Given the description of an element on the screen output the (x, y) to click on. 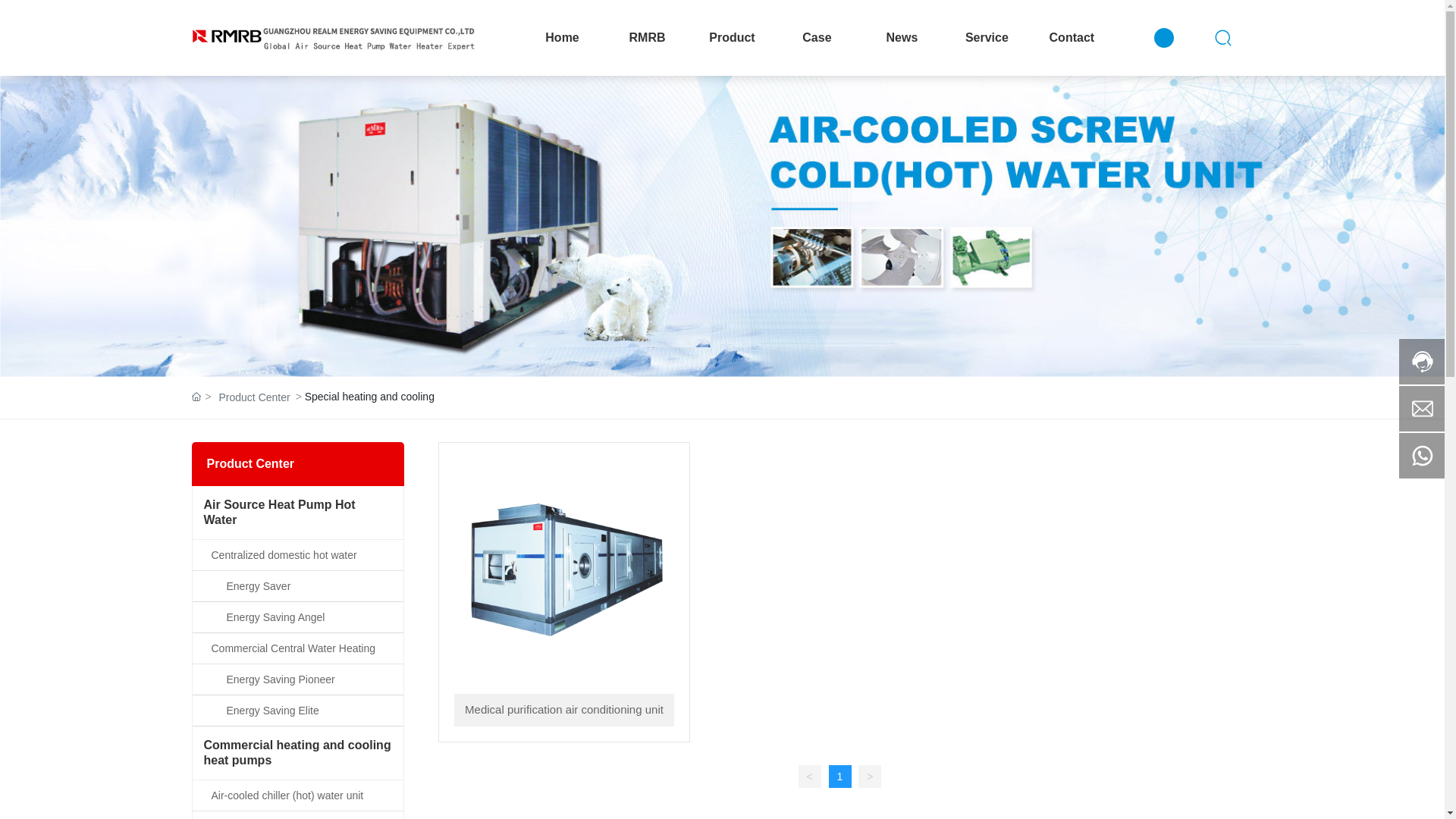
> Element type: text (869, 776)
Product Center Element type: text (253, 397)
Home Element type: text (562, 37)
Energy Saver Element type: text (297, 586)
Medical purification air conditioning unit Element type: hover (563, 567)
Centralized domestic hot water Element type: text (297, 554)
Contact Element type: text (1071, 37)
Product Center Element type: hover (722, 225)
Air-cooled chiller (hot) water unit Element type: text (297, 795)
News Element type: text (901, 37)
RMRB Element type: text (647, 37)
Energy Saving Elite Element type: text (297, 710)
1 Element type: text (839, 776)
Product Element type: text (731, 37)
Commercial heating and cooling heat pumps Element type: text (297, 752)
Service Element type: text (986, 37)
Case Element type: text (816, 37)
Energy Saving Angel Element type: text (297, 617)
Medical purification air conditioning unit Element type: text (563, 709)
GUANGZHOU RUM ENERGY SAVING EQUIPMENT CO., LTD.  Element type: hover (333, 37)
< Element type: text (809, 776)
Commercial Central Water Heating Element type: text (297, 648)
Energy Saving Pioneer Element type: text (297, 679)
Air Source Heat Pump Hot Water Element type: text (297, 512)
